Given the description of an element on the screen output the (x, y) to click on. 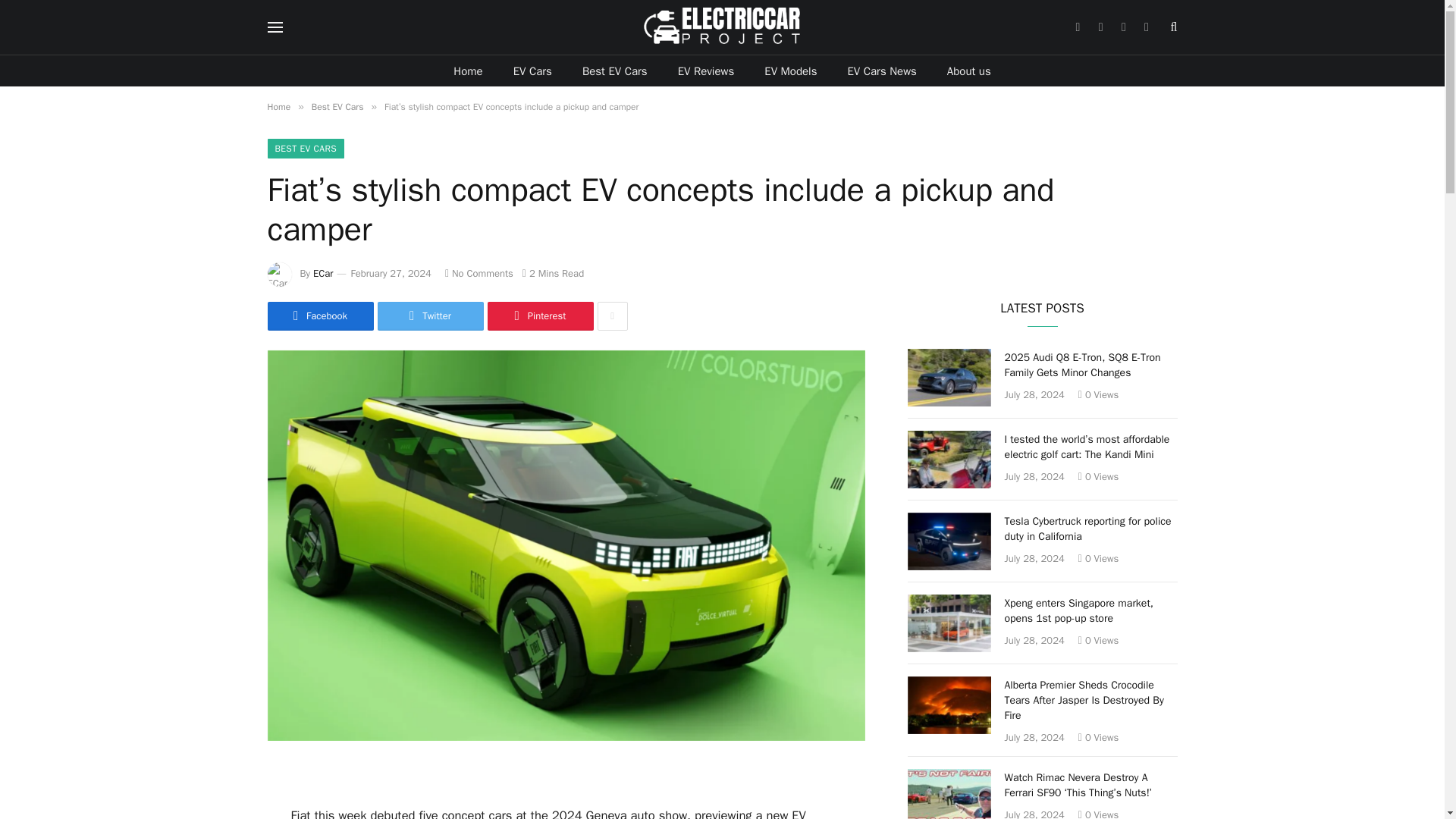
Pinterest (539, 316)
EV Cars News (881, 70)
Share on Pinterest (539, 316)
Posts by ECar (323, 273)
About us (968, 70)
Share on Twitter (430, 316)
BEST EV CARS (304, 148)
Facebook (319, 316)
Twitter (430, 316)
Electric Car Project (722, 27)
EV Models (790, 70)
Home (467, 70)
Best EV Cars (614, 70)
EV Reviews (705, 70)
Home (277, 106)
